Given the description of an element on the screen output the (x, y) to click on. 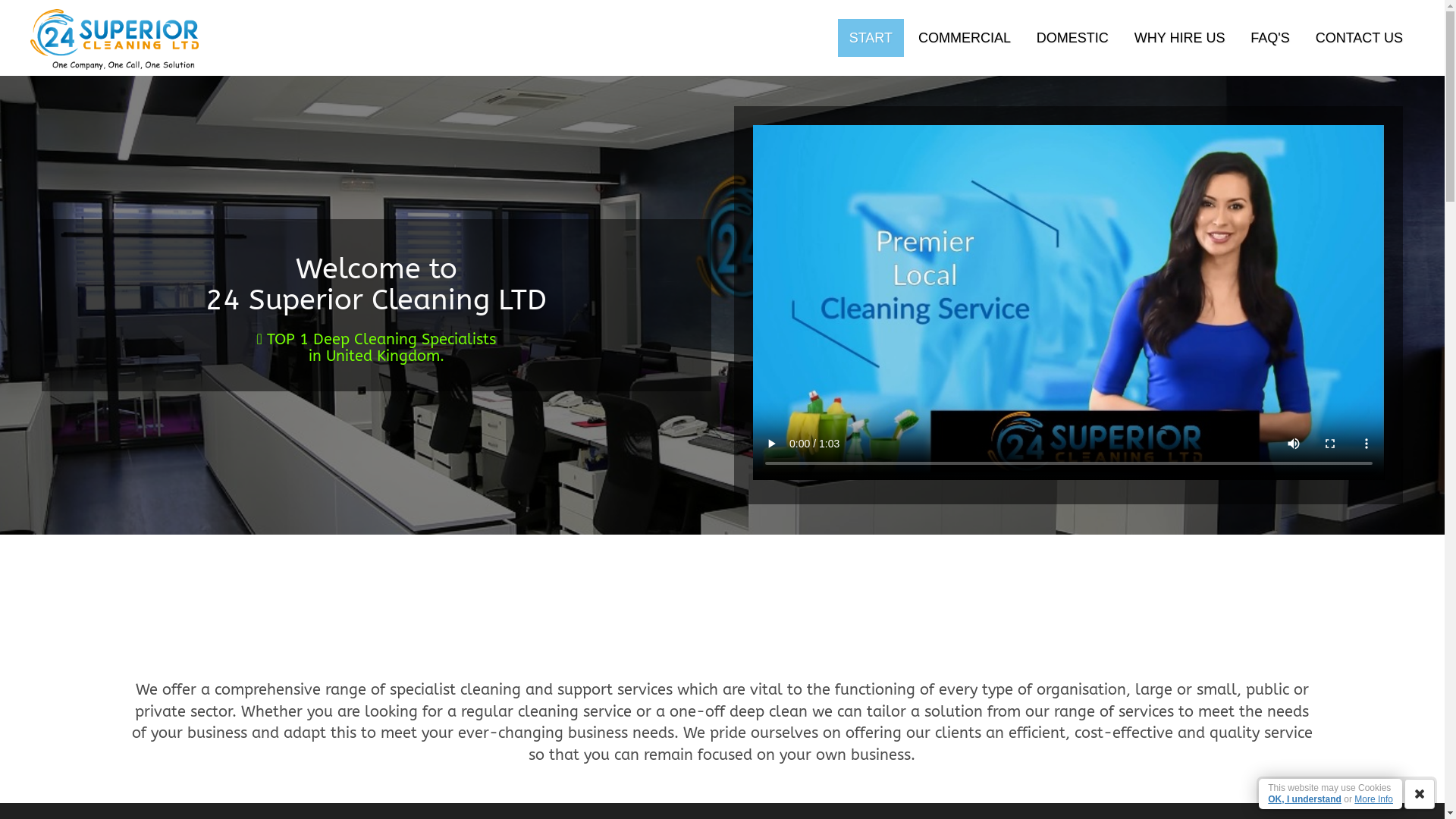
WHY HIRE US Element type: text (1179, 37)
CONTACT US Element type: text (1359, 37)
DOMESTIC Element type: text (1072, 37)
More Info Element type: text (1373, 798)
FAQ'S Element type: text (1269, 37)
START Element type: text (870, 37)
COMMERCIAL Element type: text (964, 37)
OK, I understand Element type: text (1304, 798)
